Given the description of an element on the screen output the (x, y) to click on. 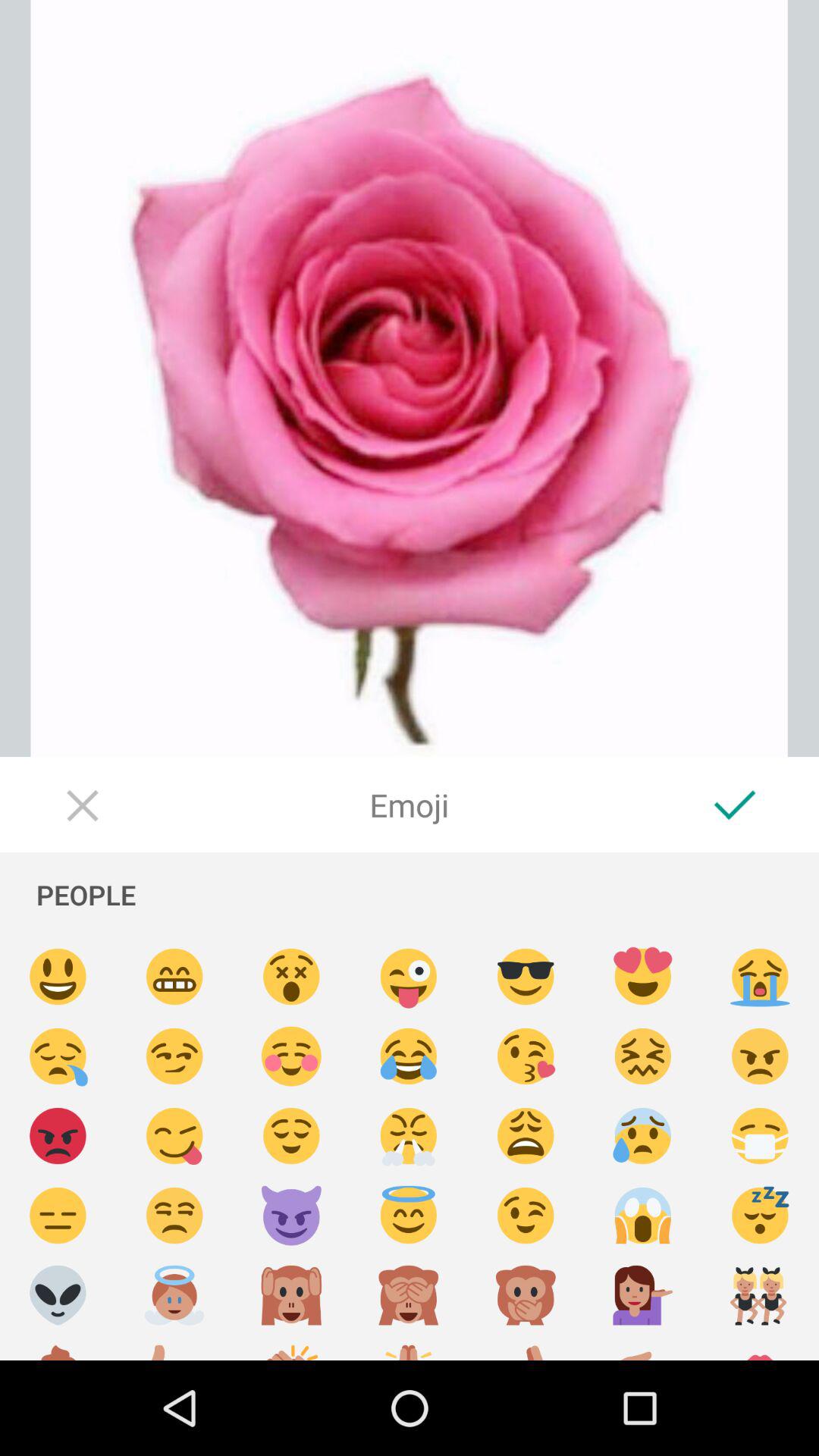
insert crying-laughing emoji (408, 1056)
